Given the description of an element on the screen output the (x, y) to click on. 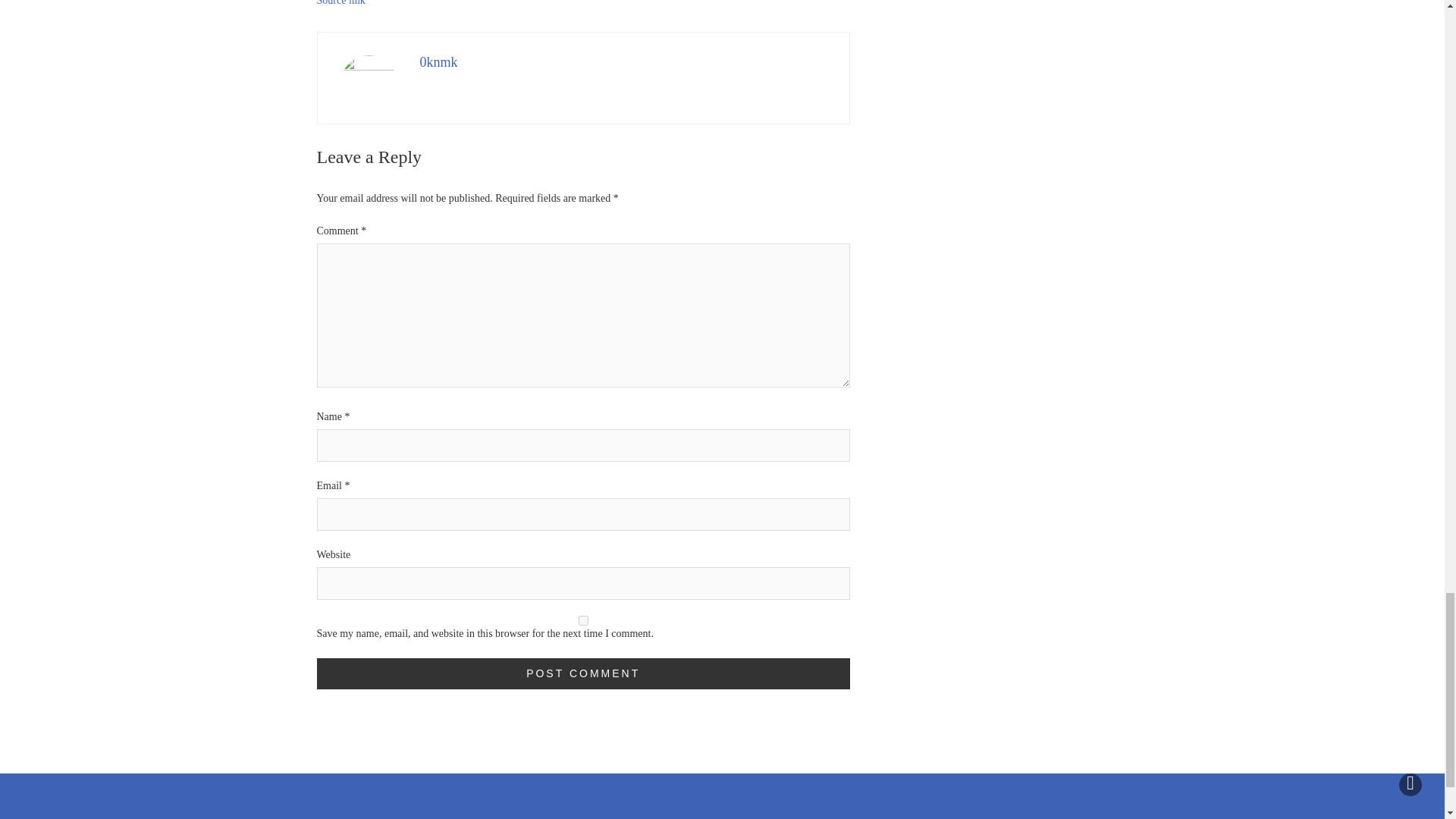
0knmk (439, 61)
Source link (341, 2)
Post Comment (583, 673)
yes (583, 620)
